Given the description of an element on the screen output the (x, y) to click on. 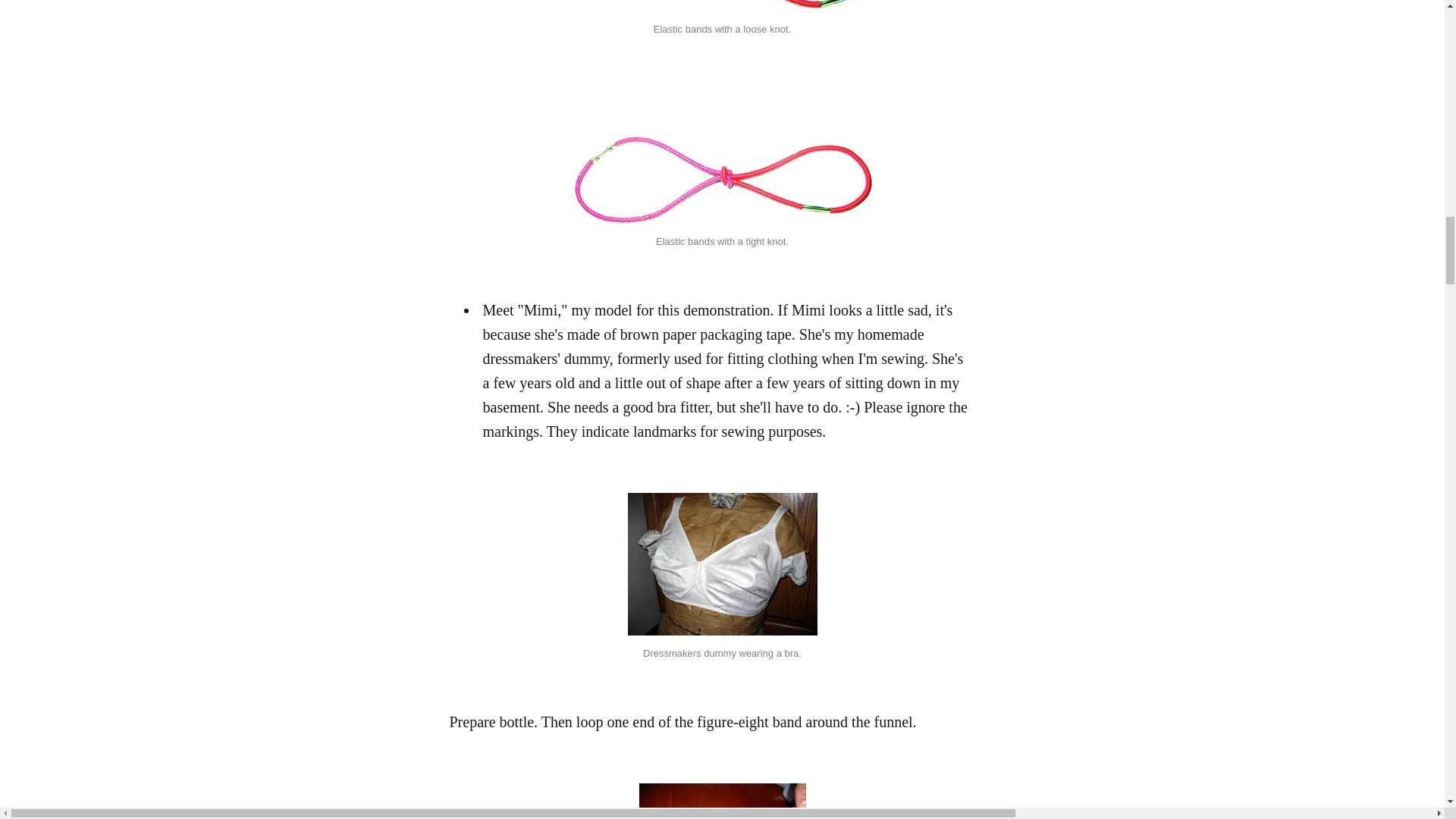
hands free pumping (722, 703)
tie a knot with hair bands (722, 414)
elastic bands (721, 107)
